Given the description of an element on the screen output the (x, y) to click on. 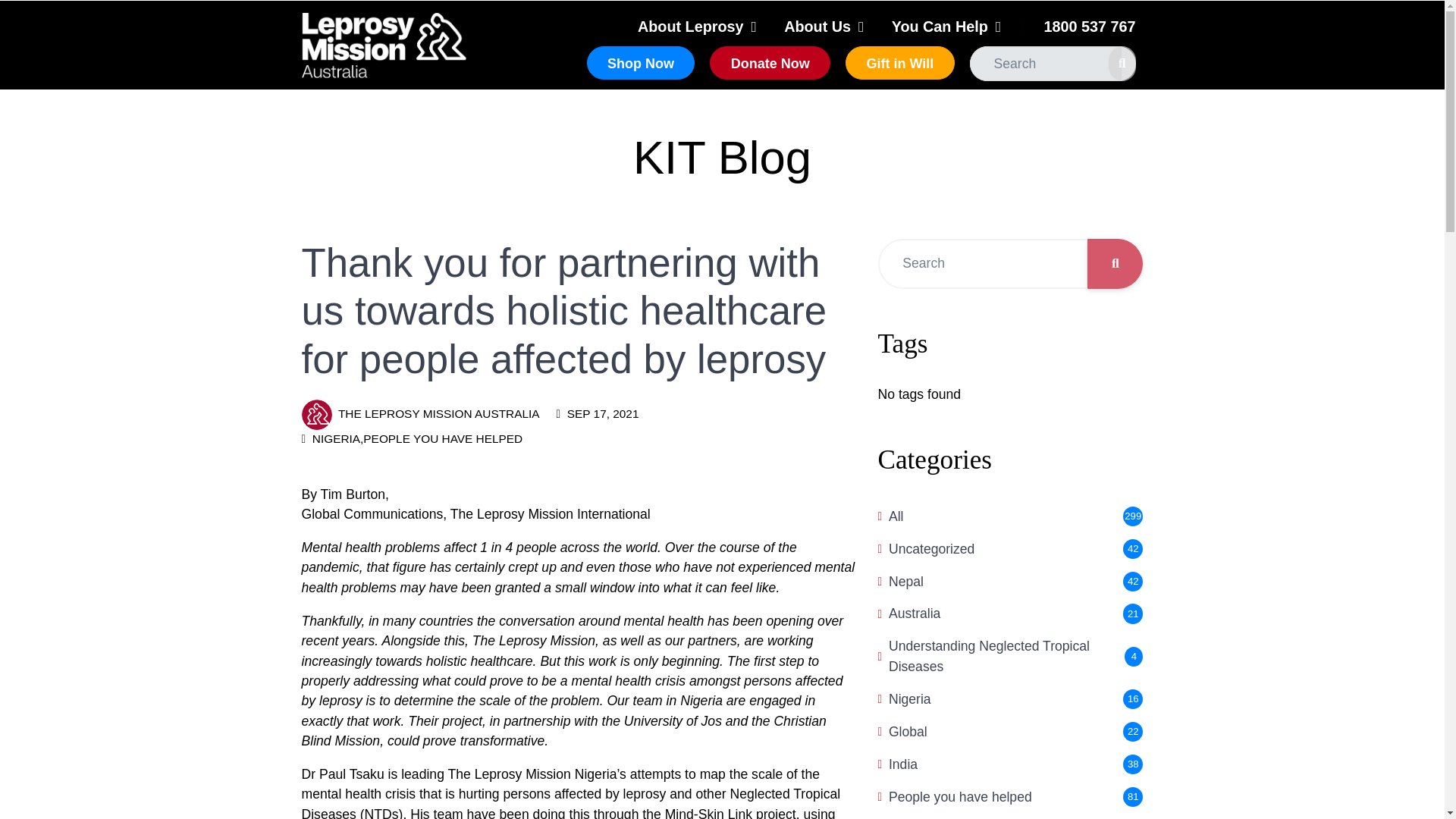
About Us (818, 25)
About Leprosy (690, 25)
